Given the description of an element on the screen output the (x, y) to click on. 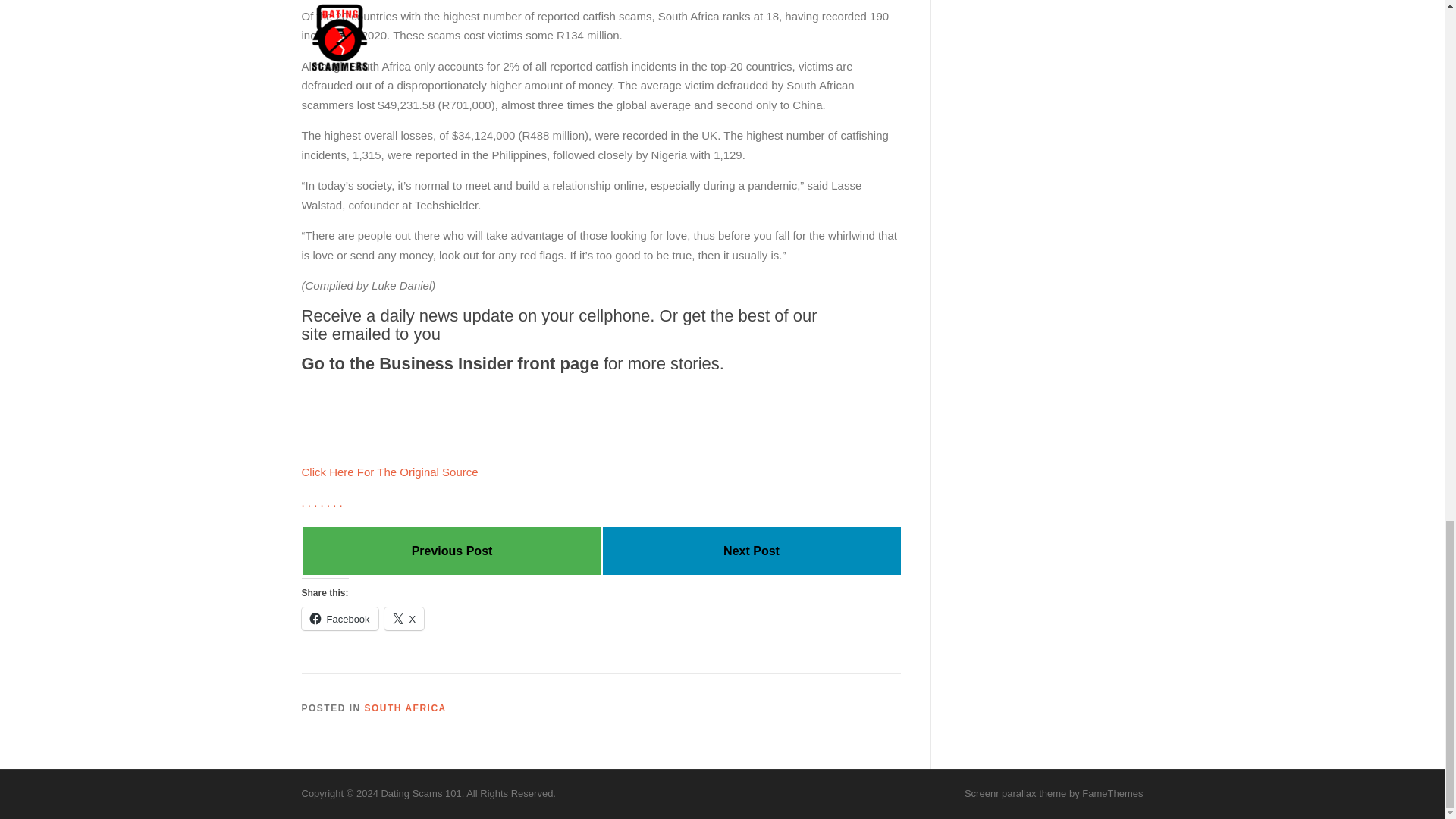
SOUTH AFRICA (405, 707)
Previous Post (451, 550)
Next Post (750, 550)
Facebook (339, 618)
Click to share on Facebook (339, 618)
Next Post (750, 550)
Click to share on X (404, 618)
Previous Post (451, 550)
Click Here For The Original Source (390, 472)
X (404, 618)
